Given the description of an element on the screen output the (x, y) to click on. 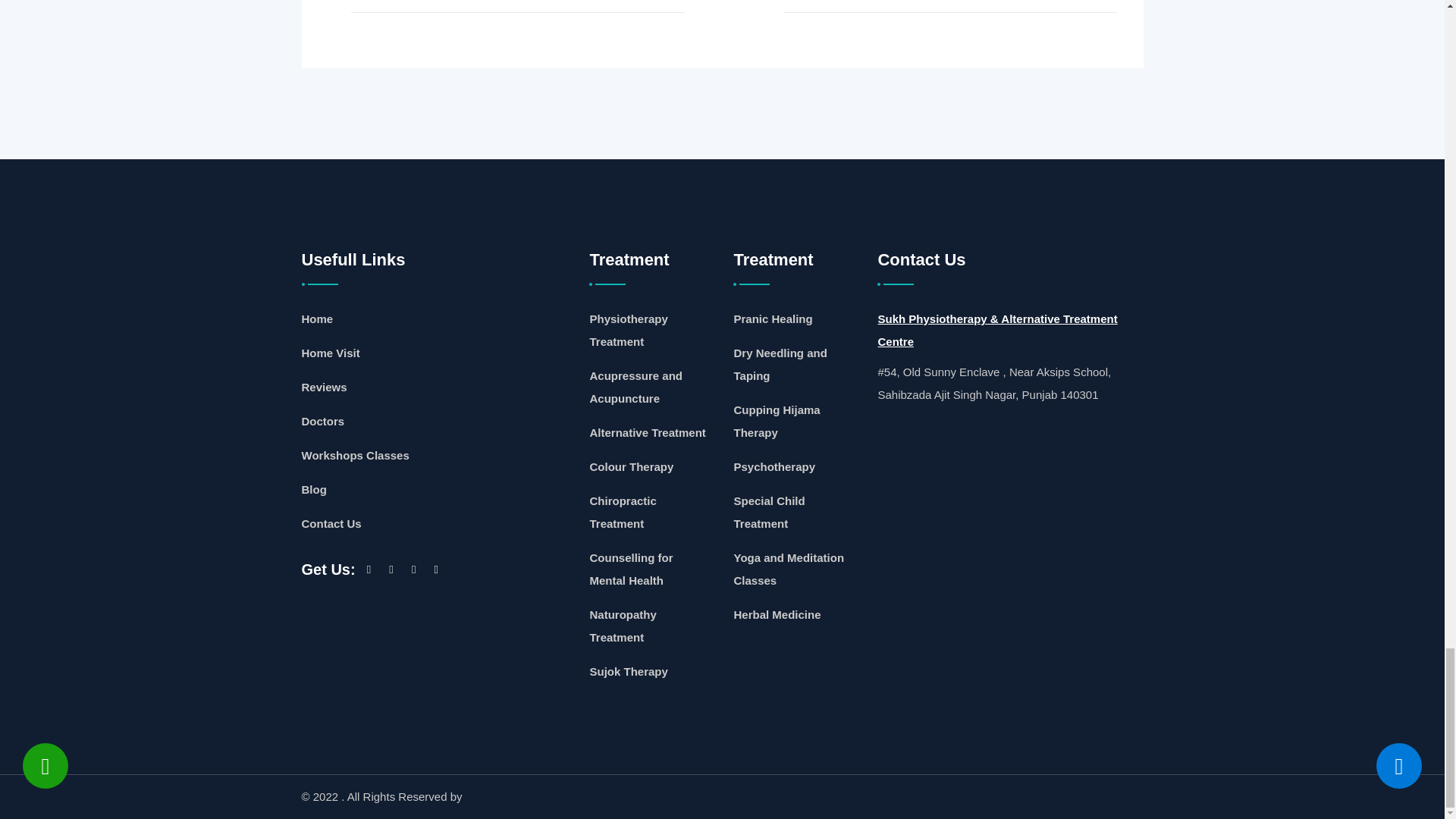
Home Visit (330, 353)
Doctors (323, 421)
Blog (313, 489)
Workshops Classes (355, 455)
Reviews (324, 386)
Home (317, 318)
